Given the description of an element on the screen output the (x, y) to click on. 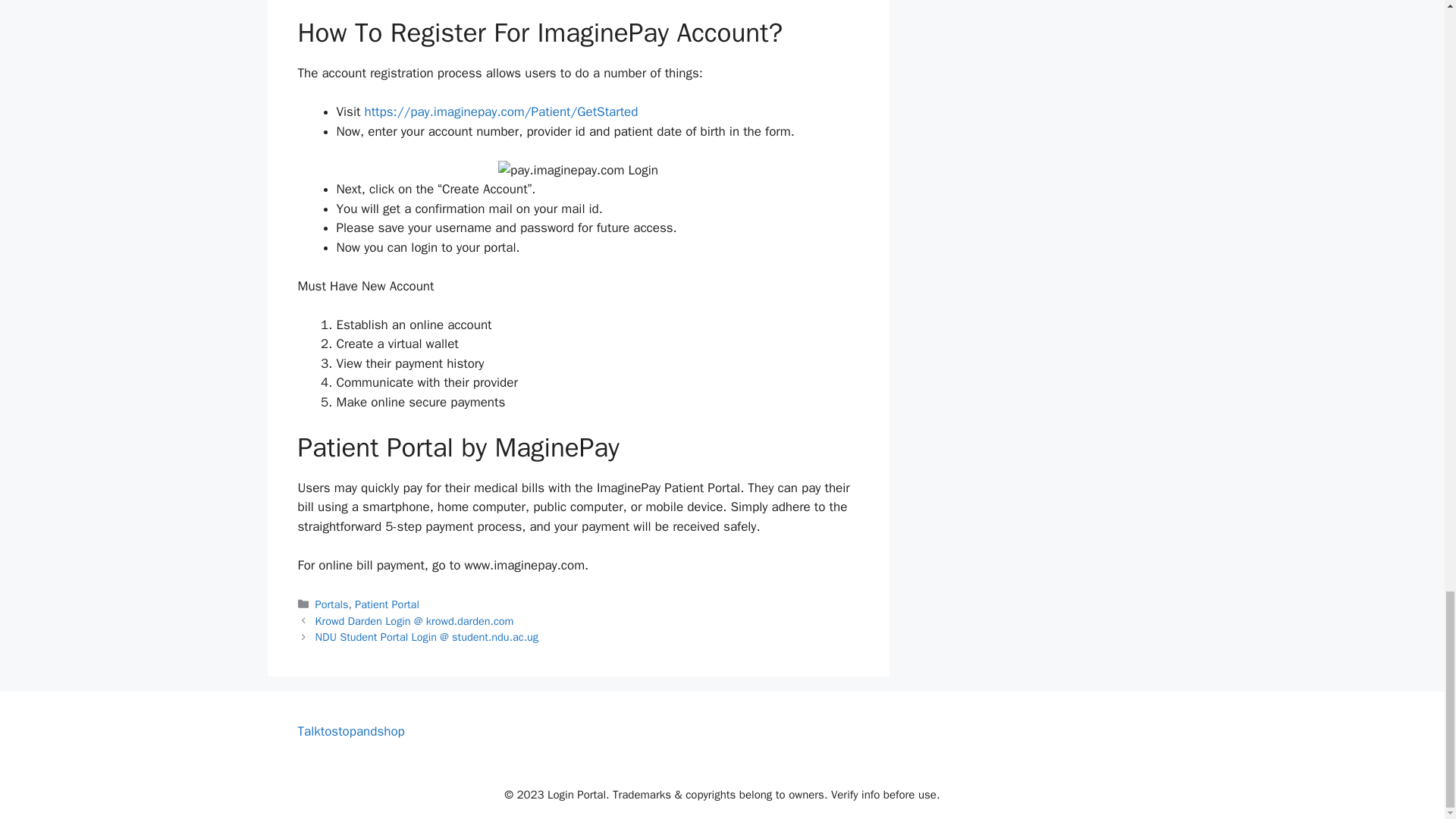
Patient Portal (387, 603)
Portals (332, 603)
Talktostopandshop (350, 731)
